Given the description of an element on the screen output the (x, y) to click on. 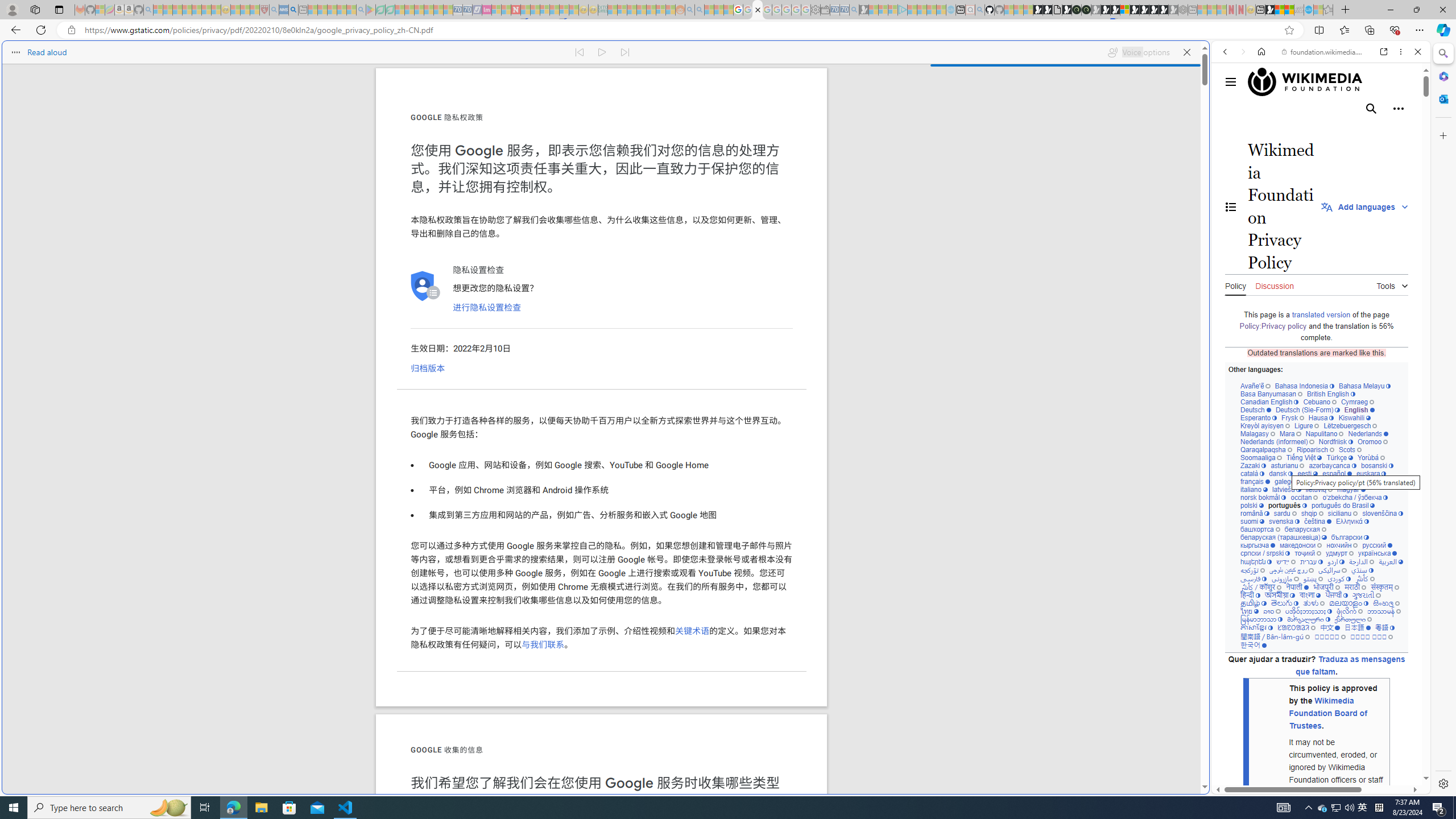
Read next paragraph (624, 52)
Nederlands (1368, 433)
Nederlands (informeel) (1277, 441)
